Given the description of an element on the screen output the (x, y) to click on. 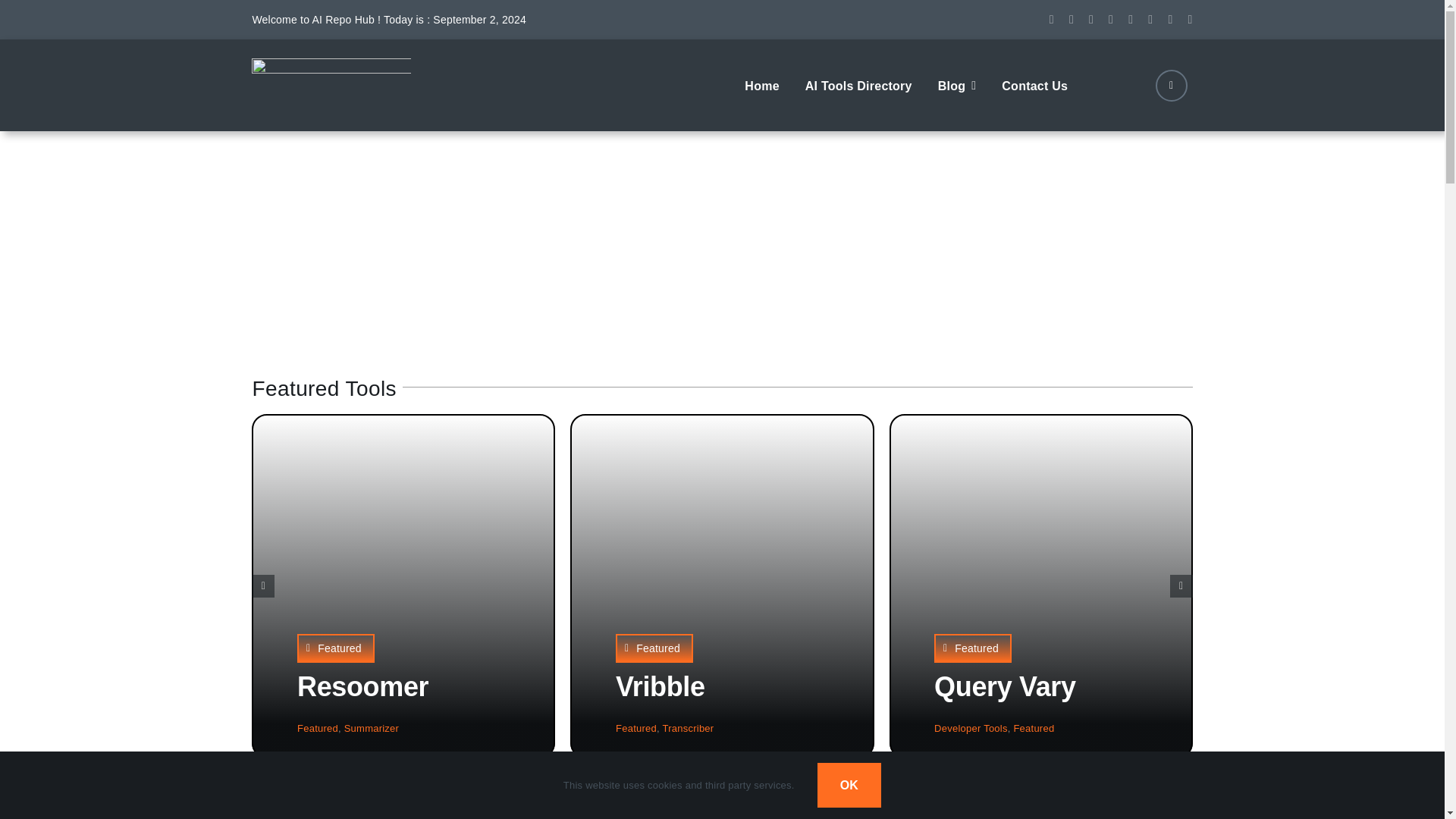
Featured (654, 647)
Vribble (659, 685)
Featured (635, 727)
Featured (317, 727)
Developer Tools (970, 727)
Contact Us (1034, 84)
Summarizer (370, 727)
Transcriber (688, 727)
AI Tools Directory (858, 84)
